Given the description of an element on the screen output the (x, y) to click on. 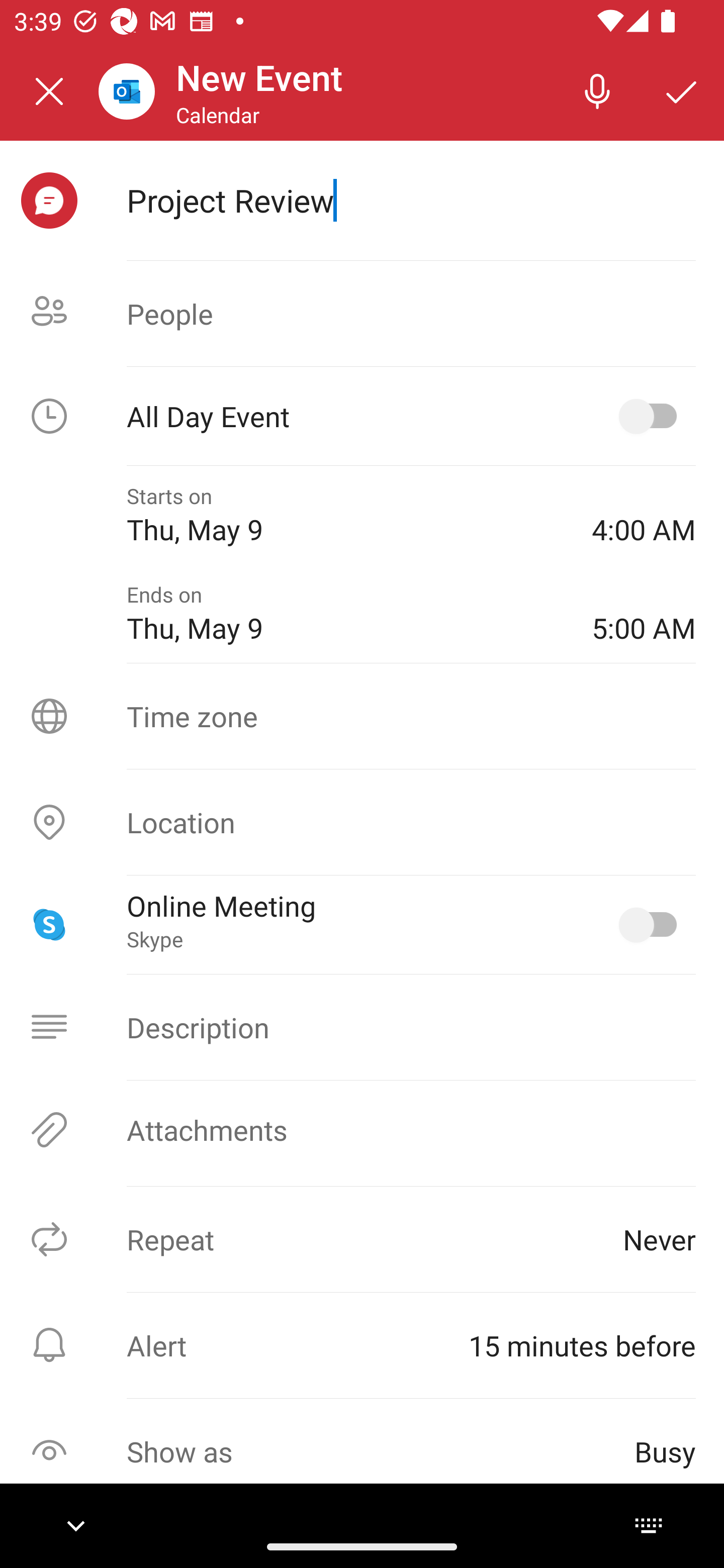
Close (49, 91)
Save (681, 90)
Project Review (410, 200)
review selected, event icon picker (48, 200)
People (362, 313)
All Day Event (362, 415)
Starts on Thu, May 9 (344, 514)
4:00 AM (643, 514)
Ends on Thu, May 9 (344, 613)
5:00 AM (643, 613)
Time zone (362, 715)
Location (362, 821)
Online Meeting, Skype selected (651, 923)
Description (362, 1026)
Attachments (362, 1129)
Repeat Never (362, 1239)
Alert ⁨15 minutes before (362, 1345)
Show as Busy (362, 1450)
